Given the description of an element on the screen output the (x, y) to click on. 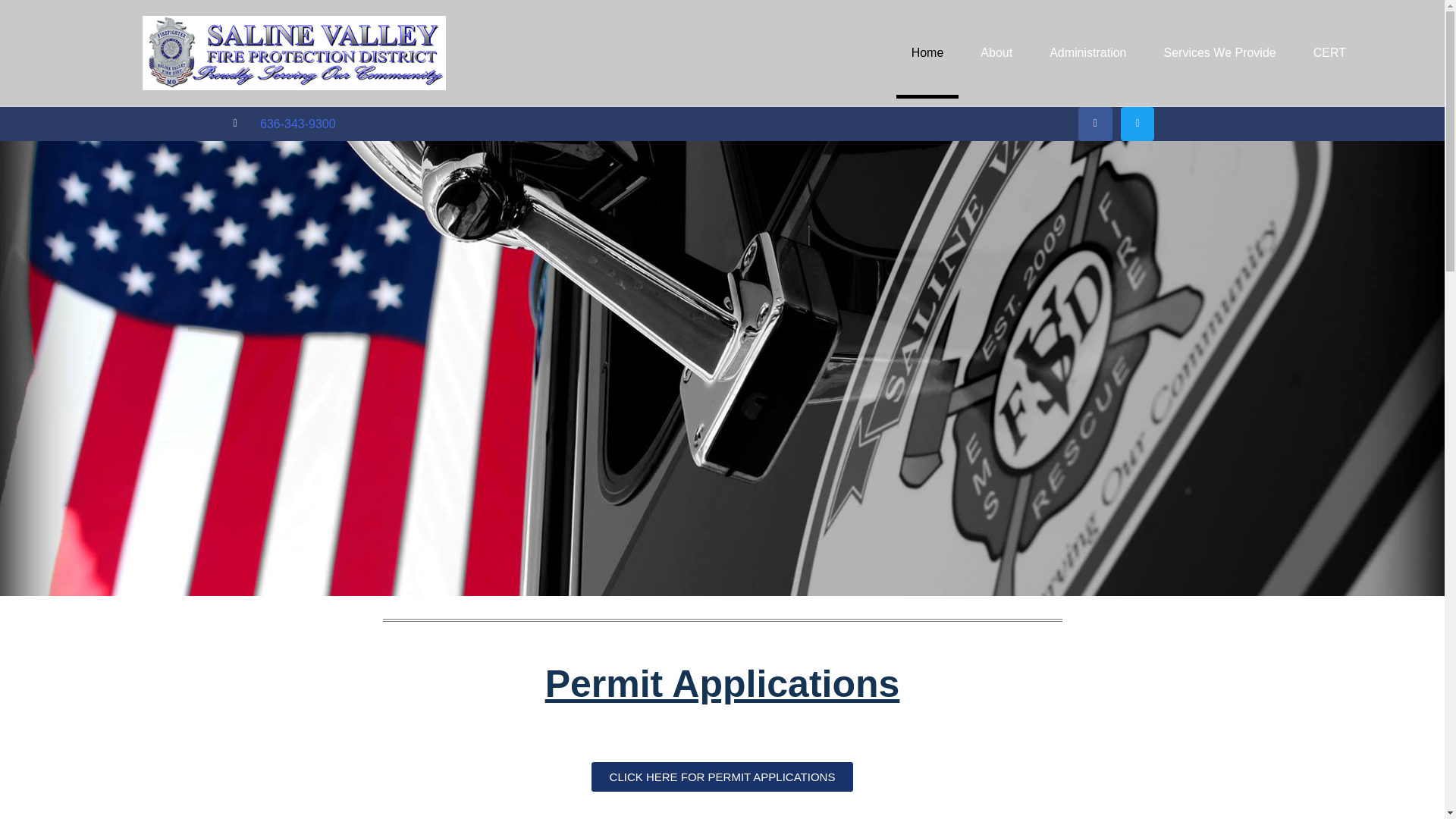
Administration (1087, 52)
Twitter (1137, 123)
636-343-9300 (298, 123)
Services We Provide (1219, 52)
CLICK HERE FOR PERMIT APPLICATIONS (722, 776)
Facebook (1095, 123)
